Given the description of an element on the screen output the (x, y) to click on. 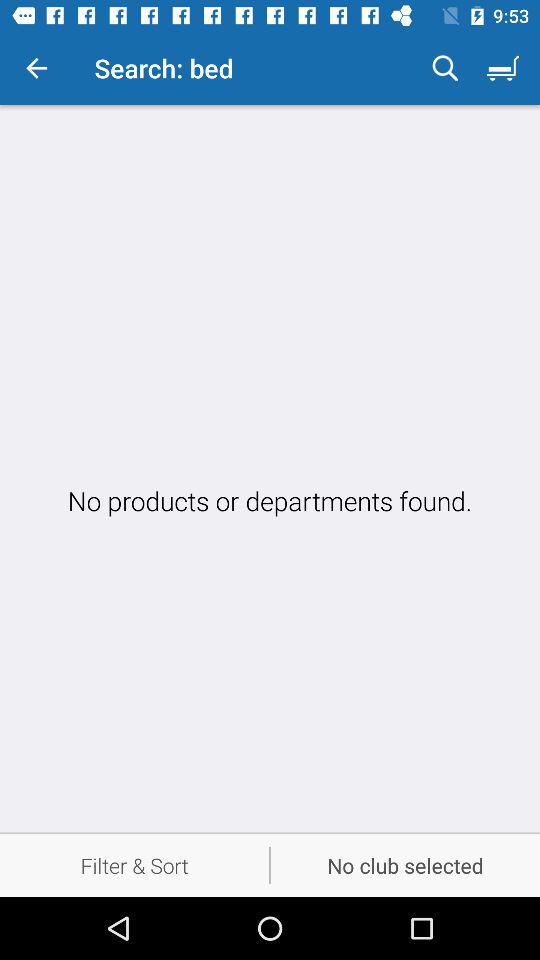
press the icon to the right of the search: bed icon (445, 68)
